Given the description of an element on the screen output the (x, y) to click on. 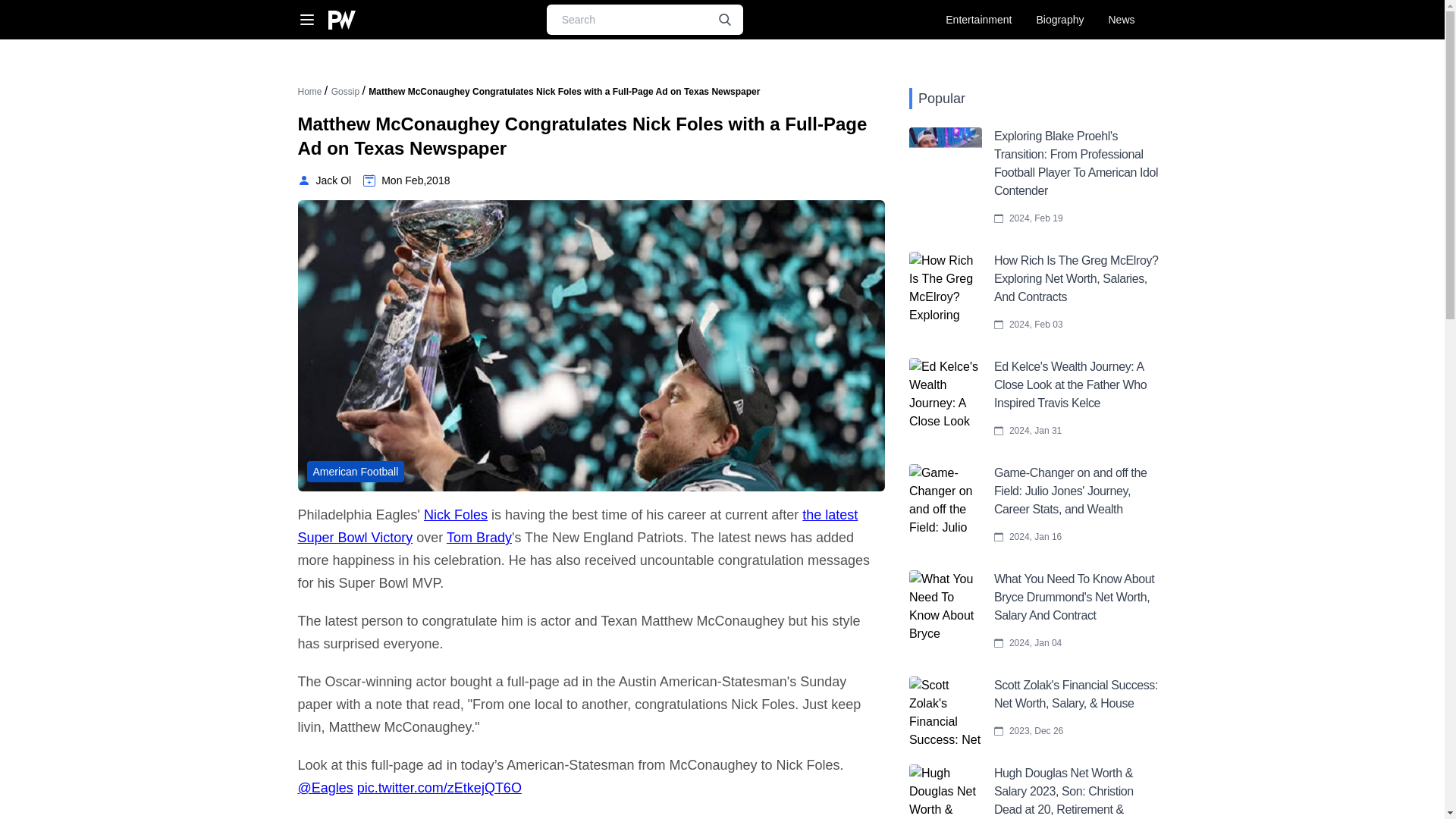
entertainment (978, 19)
Jack Ol (323, 180)
Biography (1059, 19)
homepage (341, 19)
News (1121, 19)
Gossip (346, 91)
Home (310, 91)
home (310, 91)
